Given the description of an element on the screen output the (x, y) to click on. 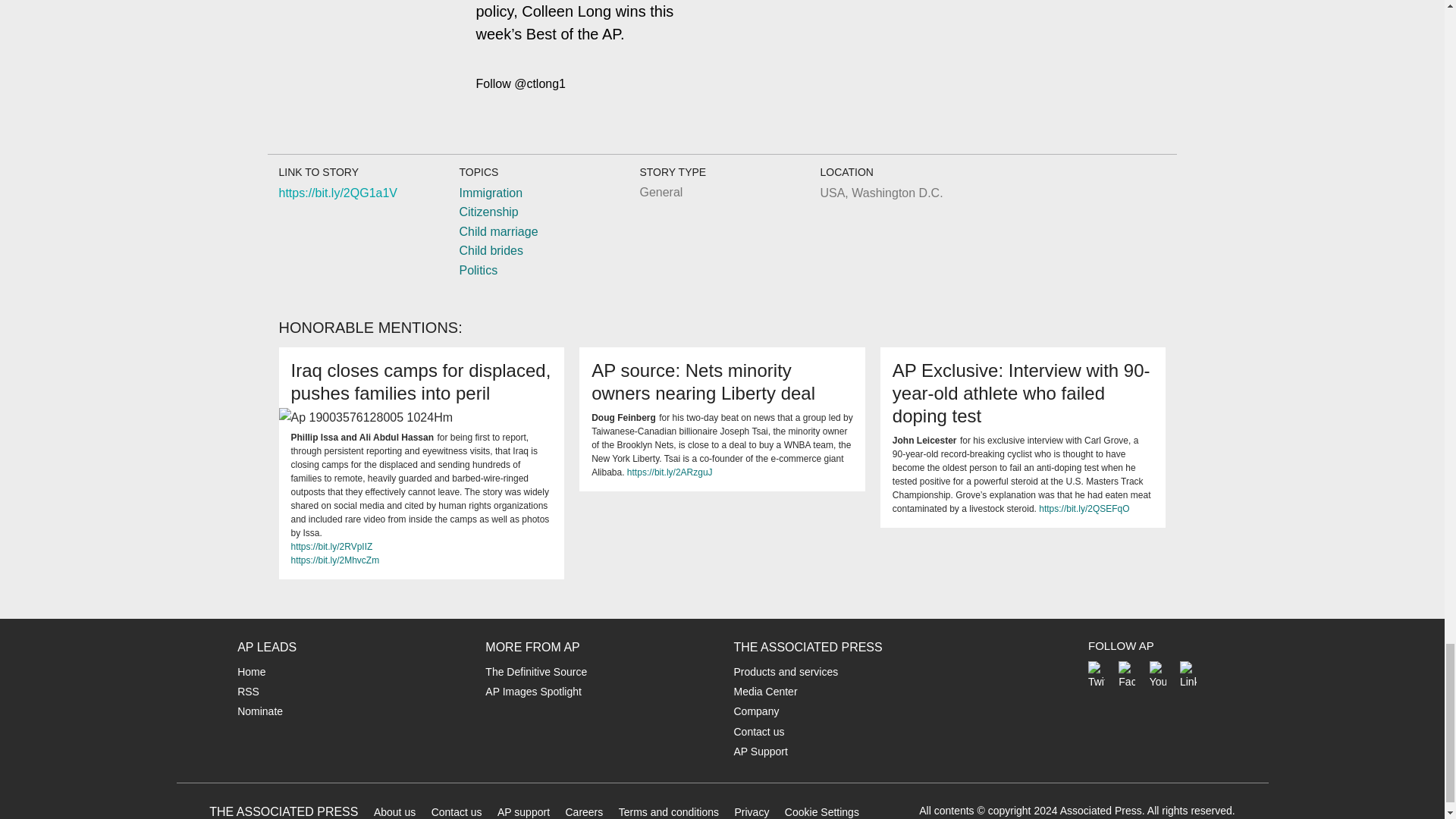
Politics (477, 269)
Child marriage (497, 231)
Citizenship (488, 211)
Child brides (490, 250)
Immigration (490, 192)
Iraq closes camps for displaced, pushes families into peril (421, 380)
